Given the description of an element on the screen output the (x, y) to click on. 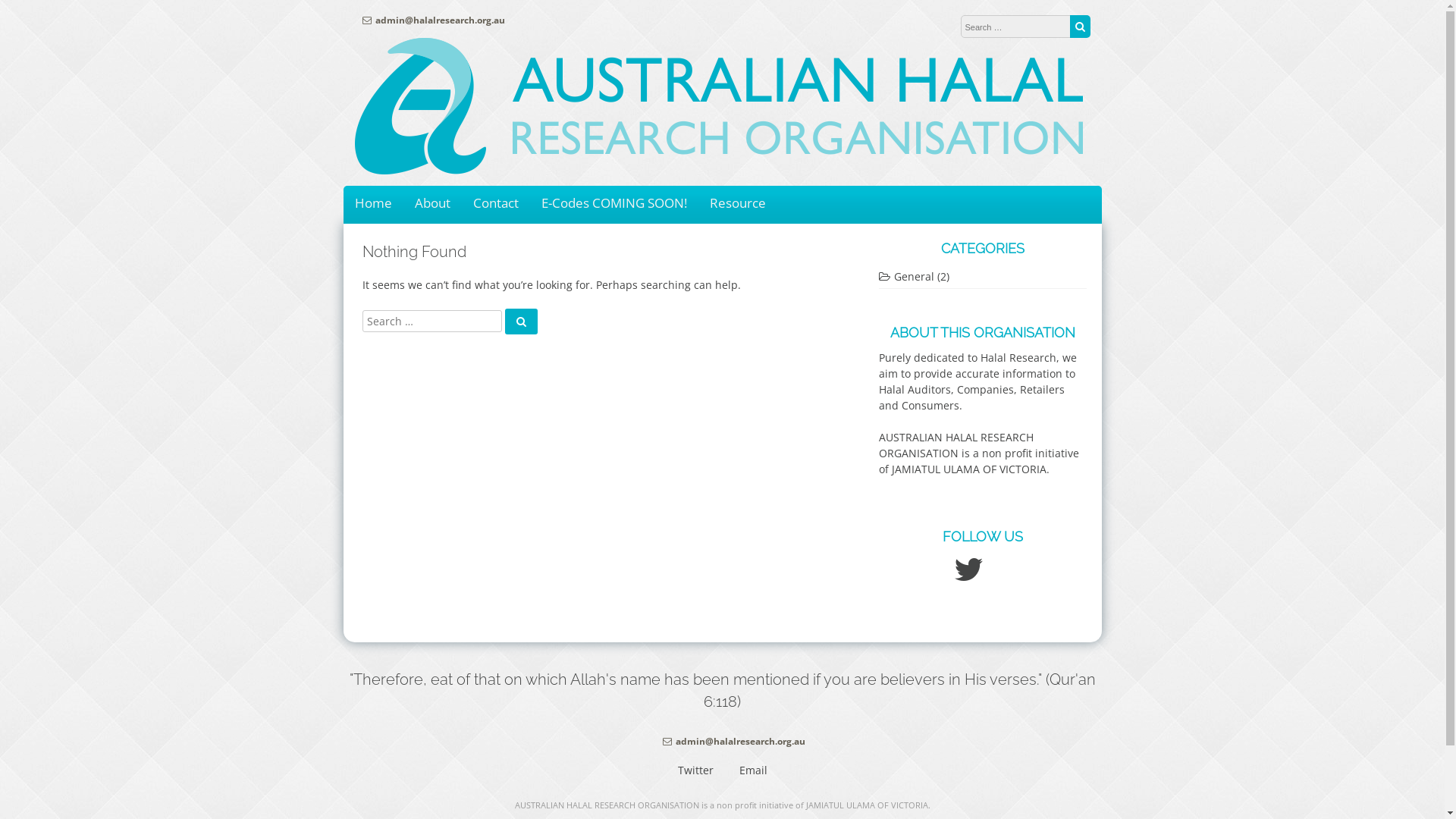
E-Codes COMING SOON! Element type: text (614, 202)
Twitter Element type: text (695, 769)
Home Element type: text (373, 202)
About Element type: text (431, 202)
Twitter Element type: hover (968, 576)
Search Element type: text (1079, 26)
Search Element type: text (521, 321)
General Element type: text (905, 276)
Email Element type: text (752, 769)
AHRO Australian Halal Research Organisation Element type: hover (718, 170)
Contact Element type: text (495, 202)
Resource Element type: text (737, 202)
